Given the description of an element on the screen output the (x, y) to click on. 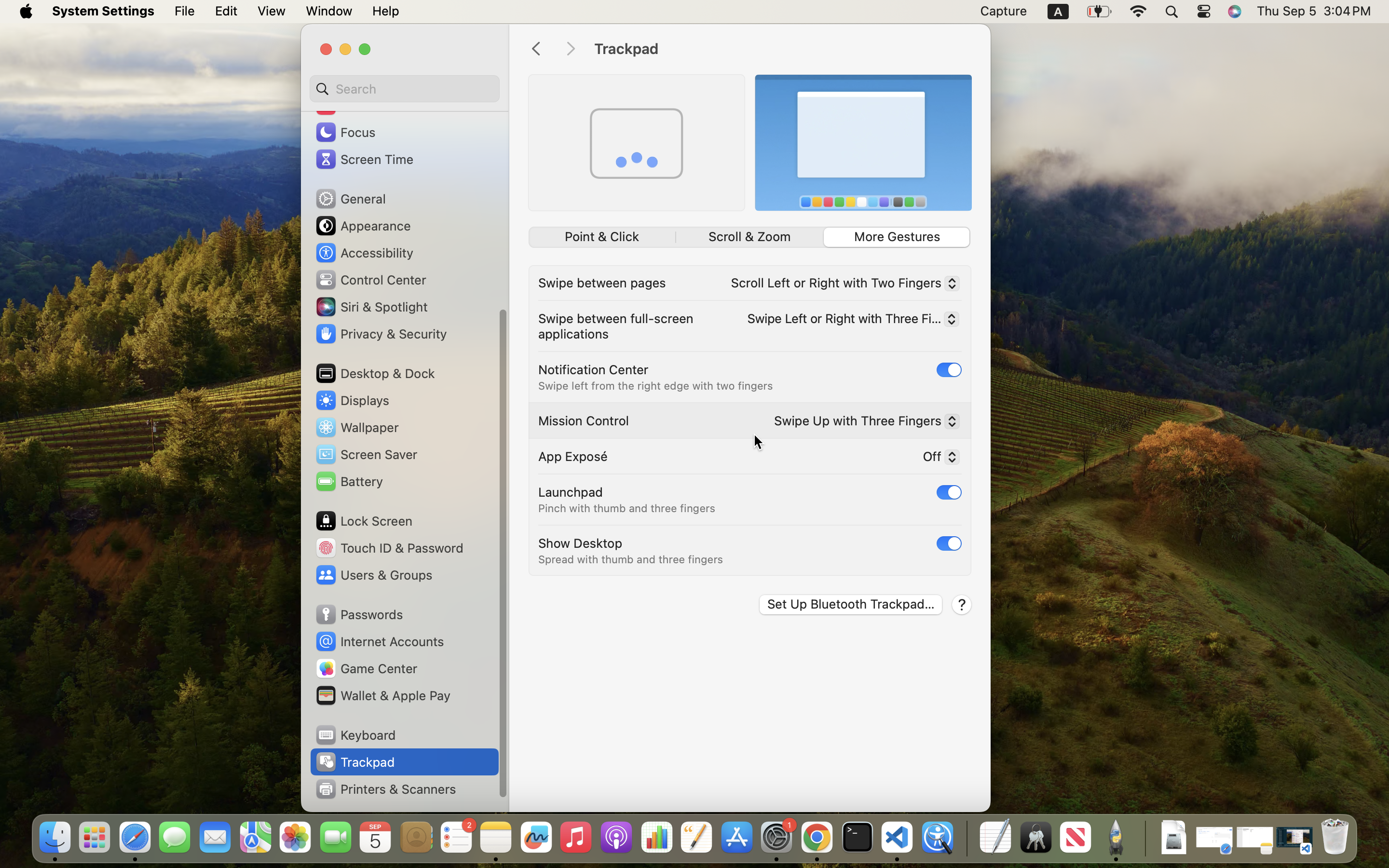
Scroll Left or Right with Two Fingers Element type: AXPopUpButton (840, 284)
Show Desktop Element type: AXStaticText (580, 542)
Sound Element type: AXStaticText (346, 104)
Spread with thumb and three fingers Element type: AXStaticText (630, 559)
Lock Screen Element type: AXStaticText (363, 520)
